Given the description of an element on the screen output the (x, y) to click on. 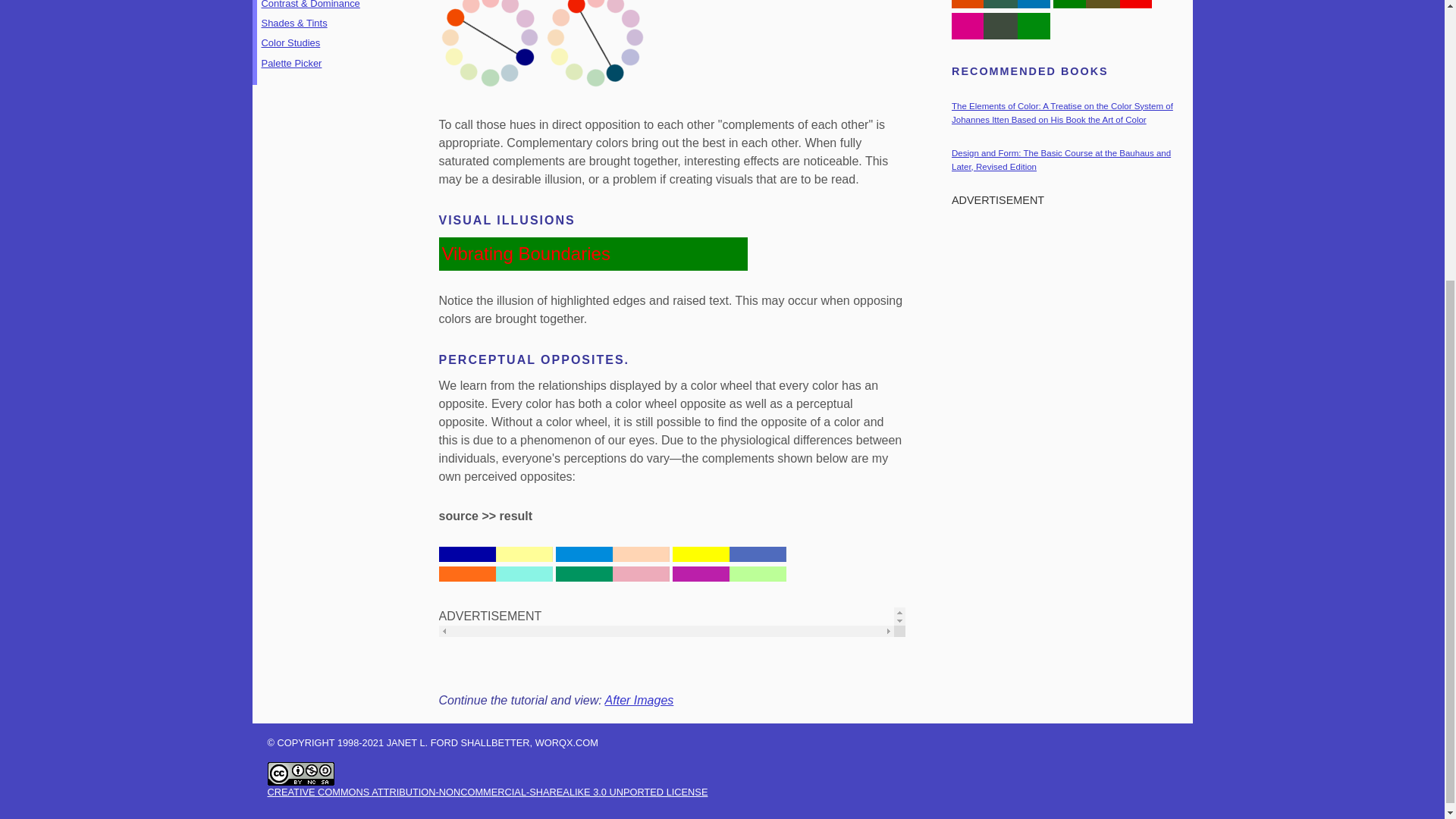
Advertisement (1068, 308)
Palette Picker (290, 62)
Color Studies (290, 42)
After Images (639, 699)
